Given the description of an element on the screen output the (x, y) to click on. 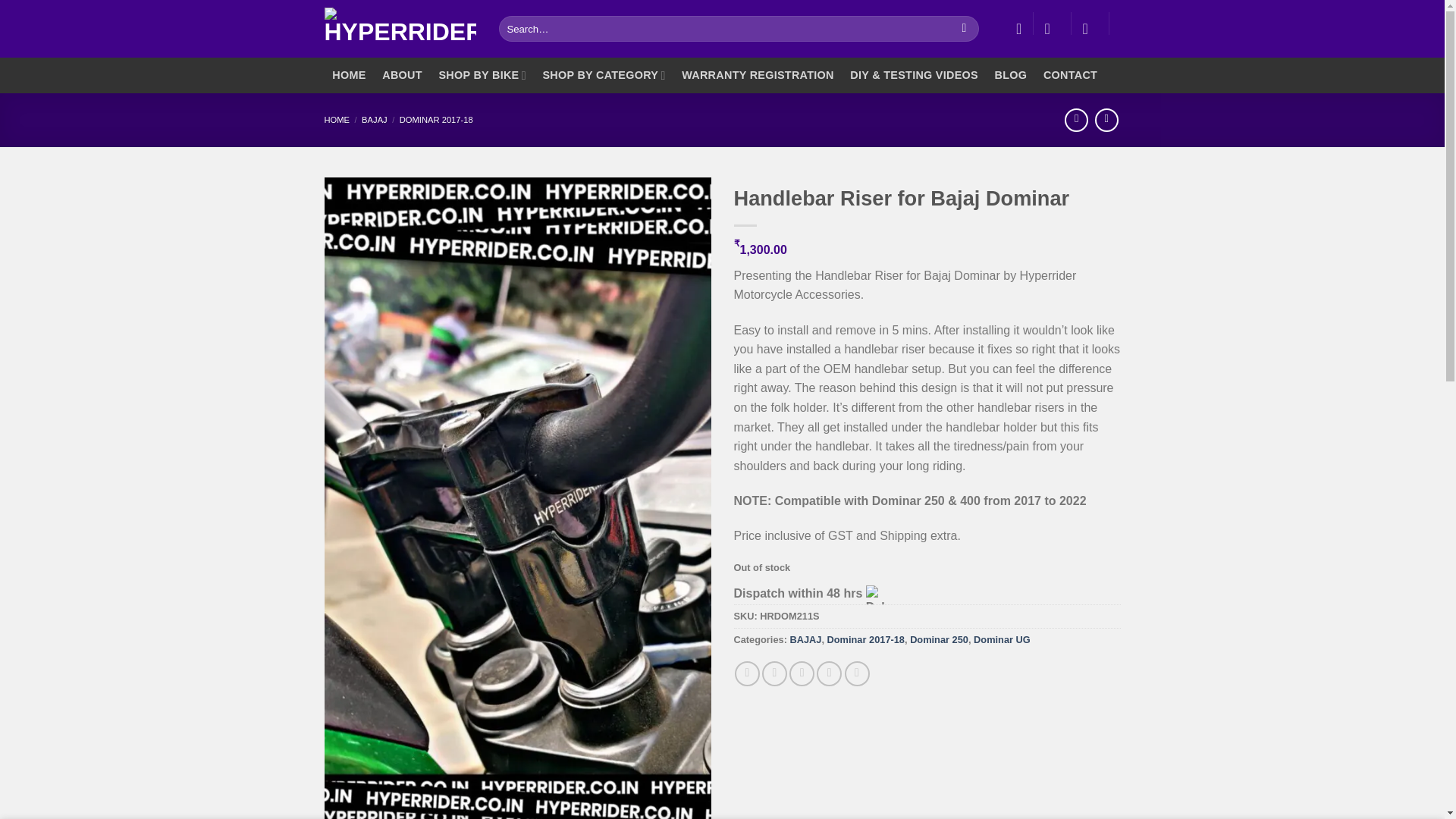
ABOUT (401, 75)
Hyperrider - Motorcycle Accessories Online Store (400, 28)
Search (964, 28)
HOME (349, 75)
SHOP BY BIKE (482, 75)
